Given the description of an element on the screen output the (x, y) to click on. 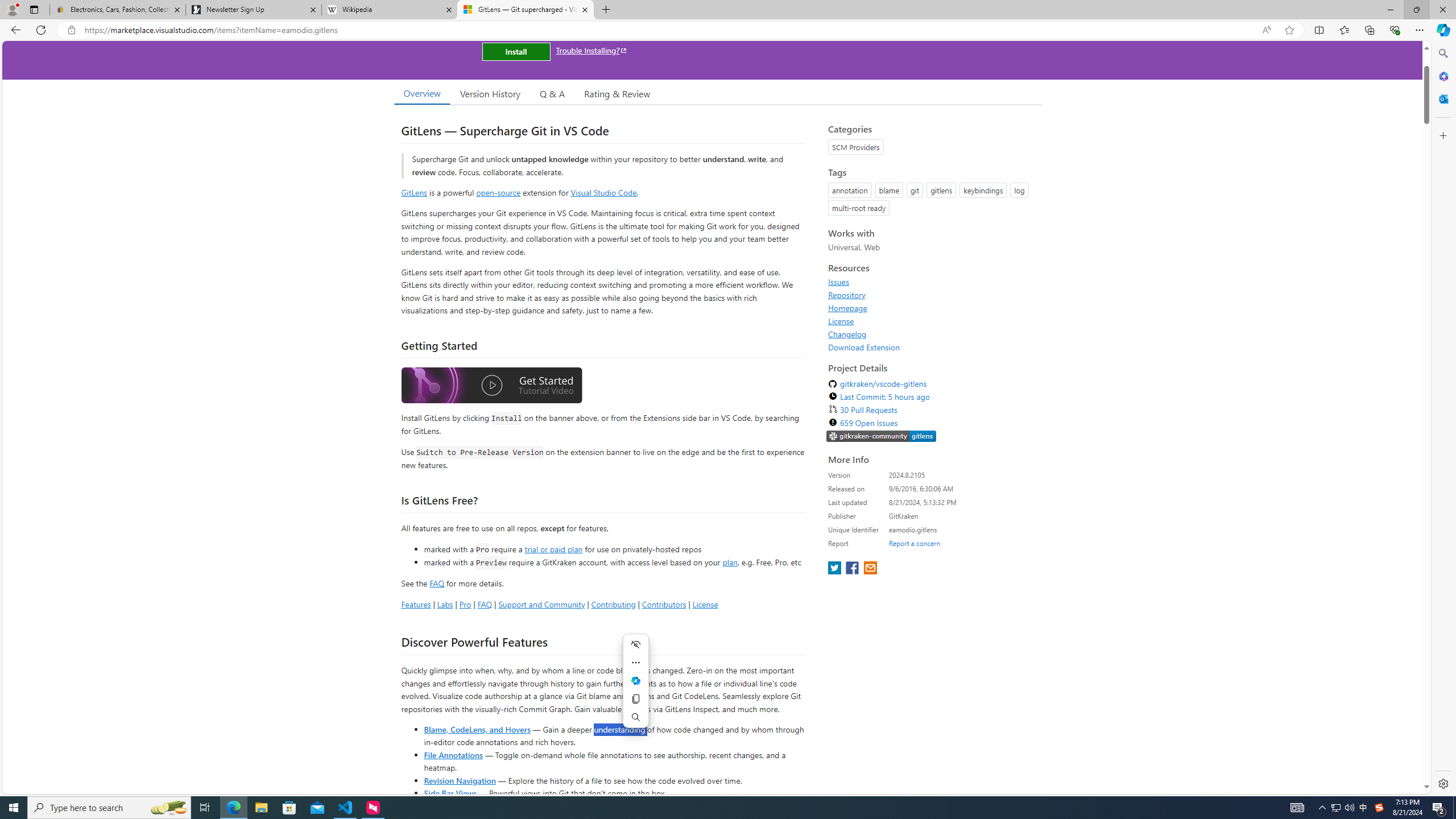
Version History (489, 92)
Mini menu on text selection (636, 687)
Overview (421, 92)
GitLens (414, 192)
License (931, 320)
Q & A (552, 92)
Issues (931, 281)
